Given the description of an element on the screen output the (x, y) to click on. 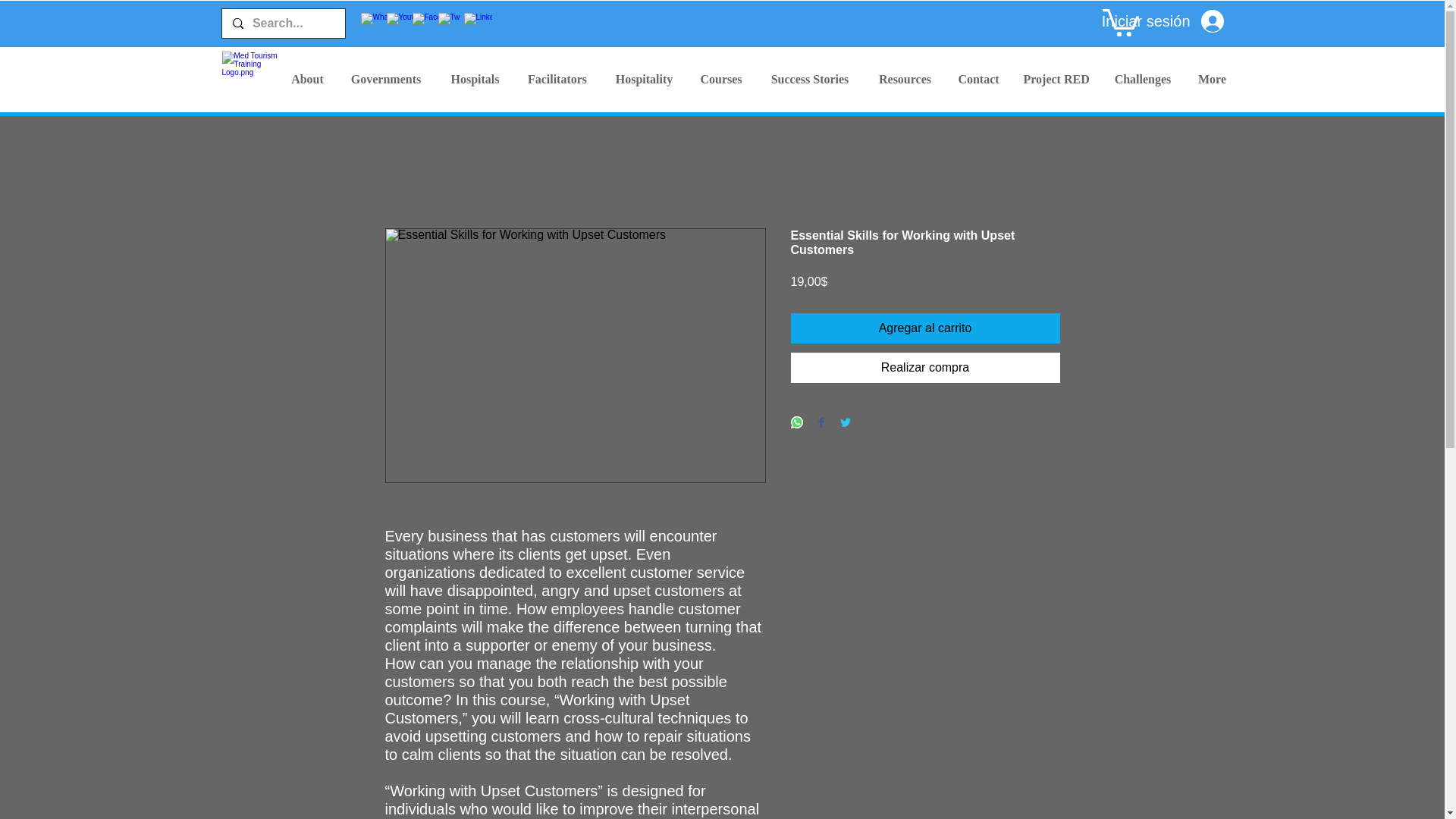
Facilitators (557, 79)
Hospitality (643, 79)
Governments (384, 79)
About (306, 79)
Hospitals (474, 79)
